Given the description of an element on the screen output the (x, y) to click on. 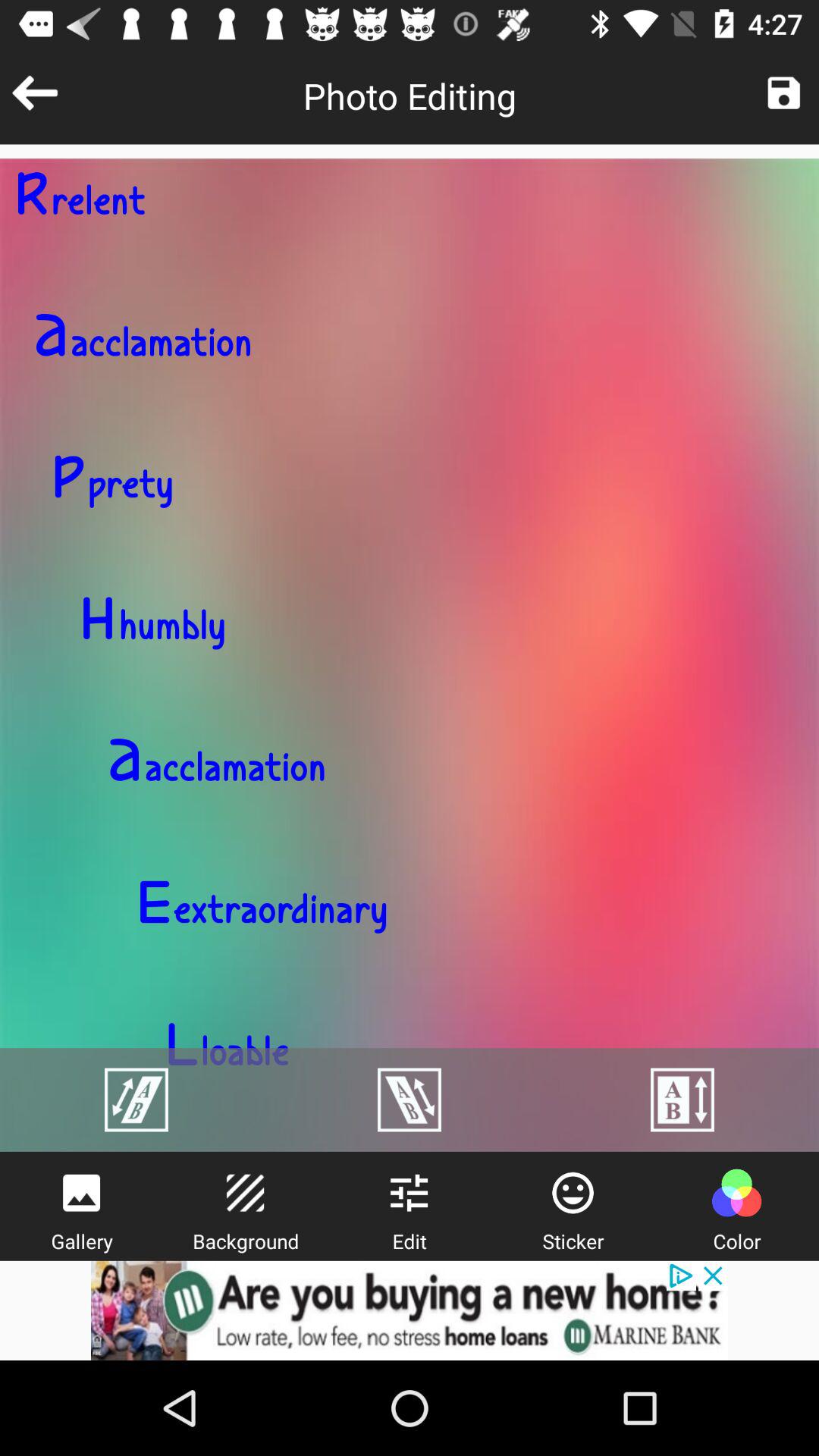
go back (34, 92)
